Given the description of an element on the screen output the (x, y) to click on. 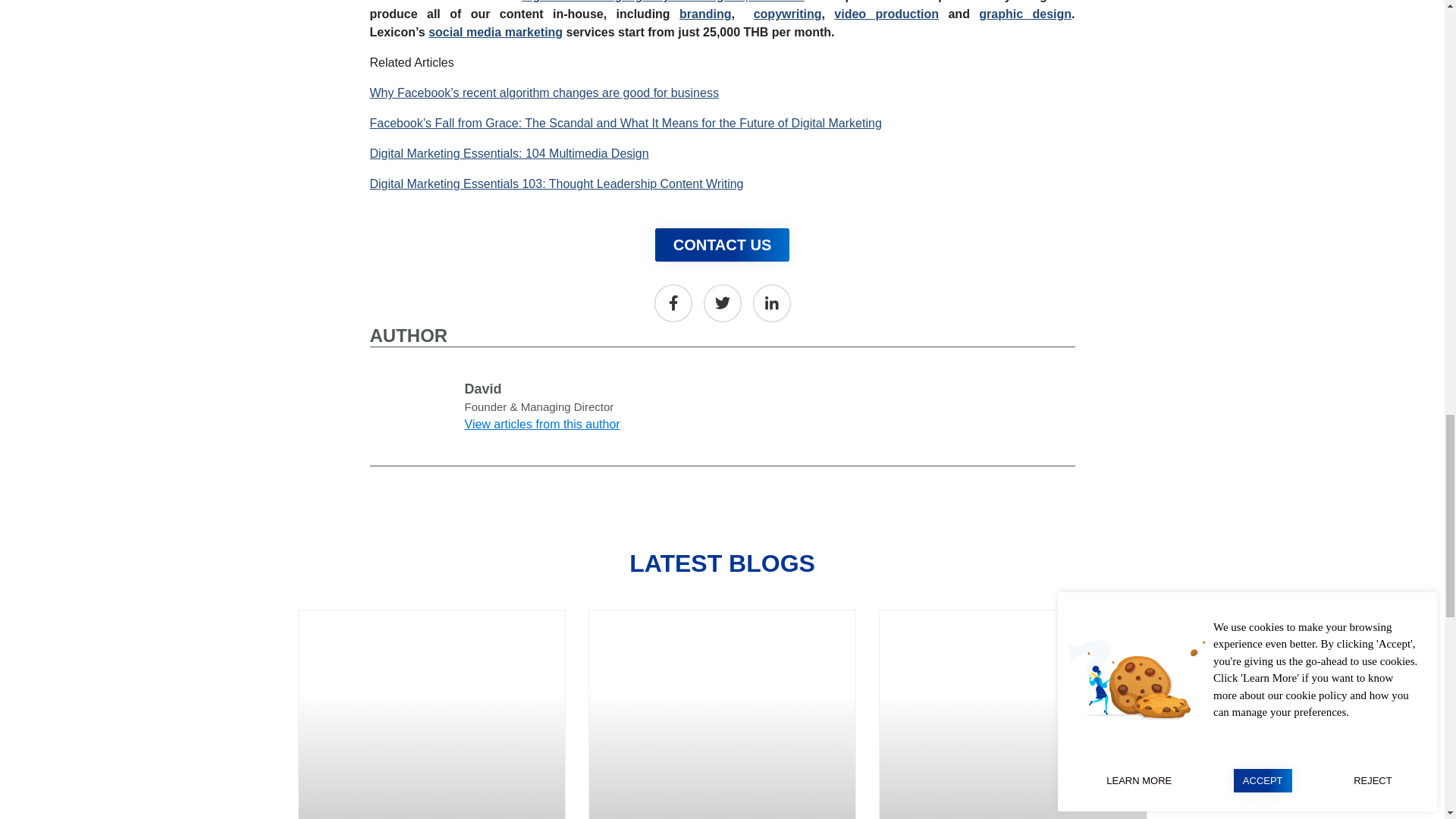
video production (886, 13)
branding (704, 13)
copywriting (788, 13)
